Given the description of an element on the screen output the (x, y) to click on. 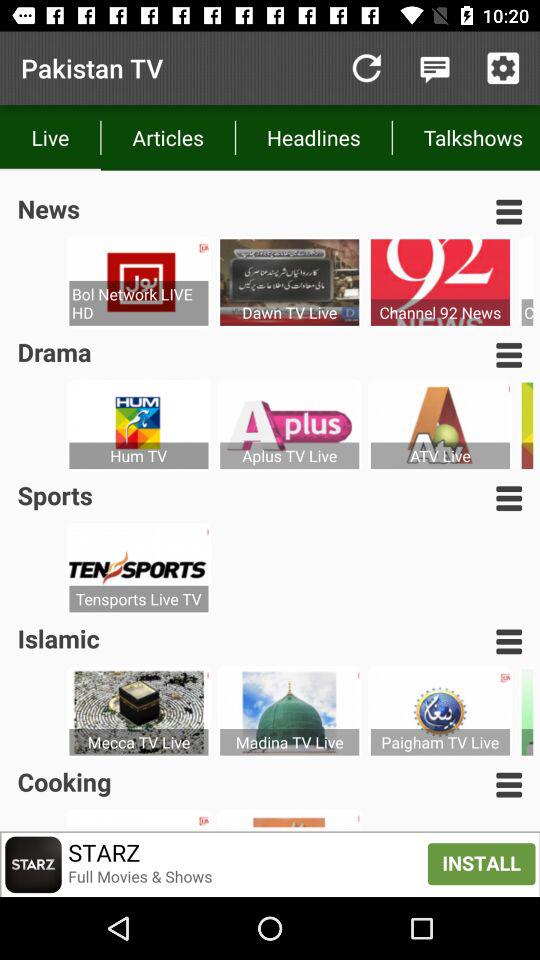
select item to the left of the headlines icon (167, 137)
